Given the description of an element on the screen output the (x, y) to click on. 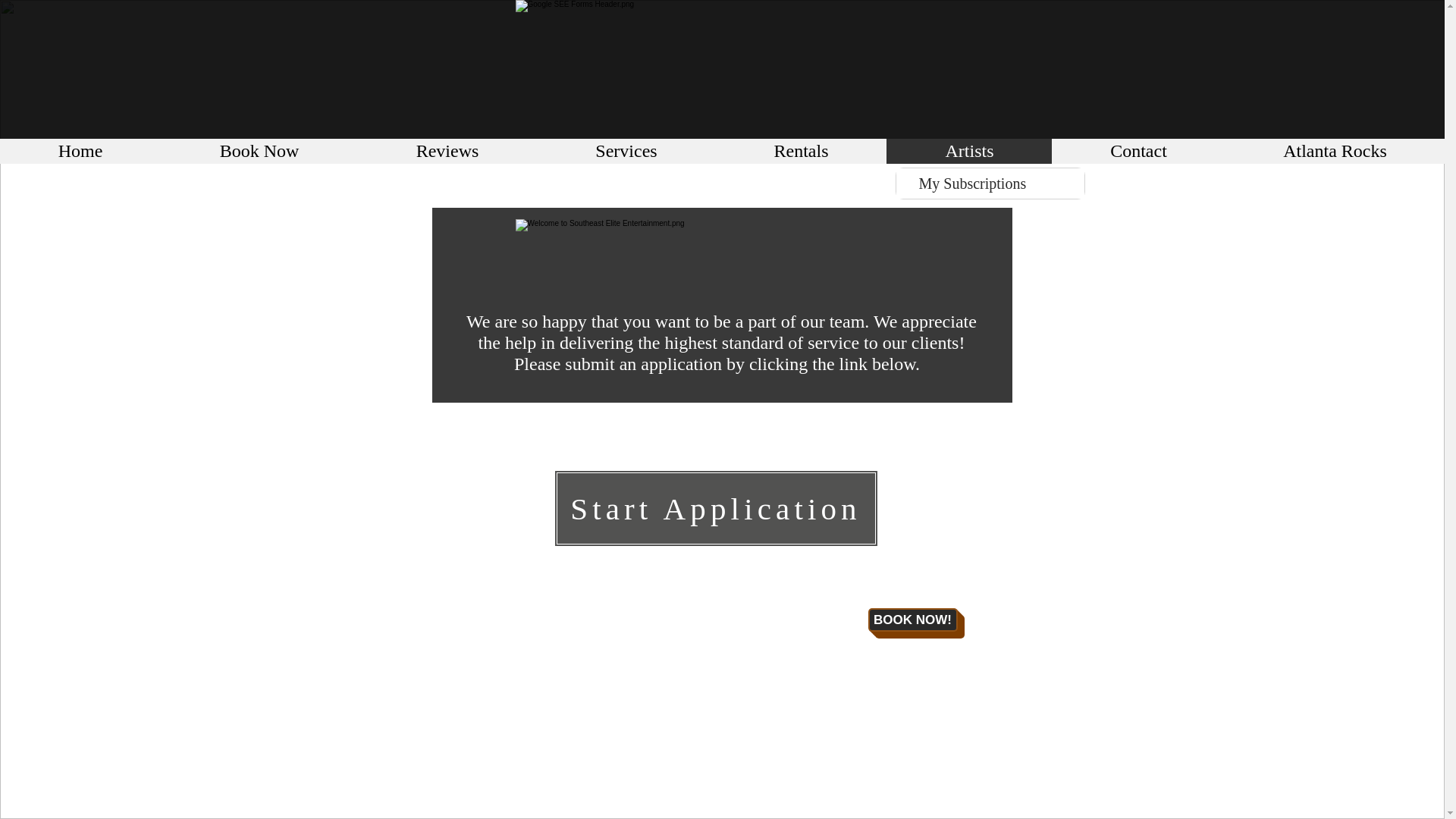
BOOK NOW! (911, 619)
Start Application (715, 508)
Reviews (446, 150)
Services (625, 150)
Book Now (258, 150)
Artists (968, 150)
Home (80, 150)
My Subscriptions (990, 183)
Contact (1137, 150)
